Given the description of an element on the screen output the (x, y) to click on. 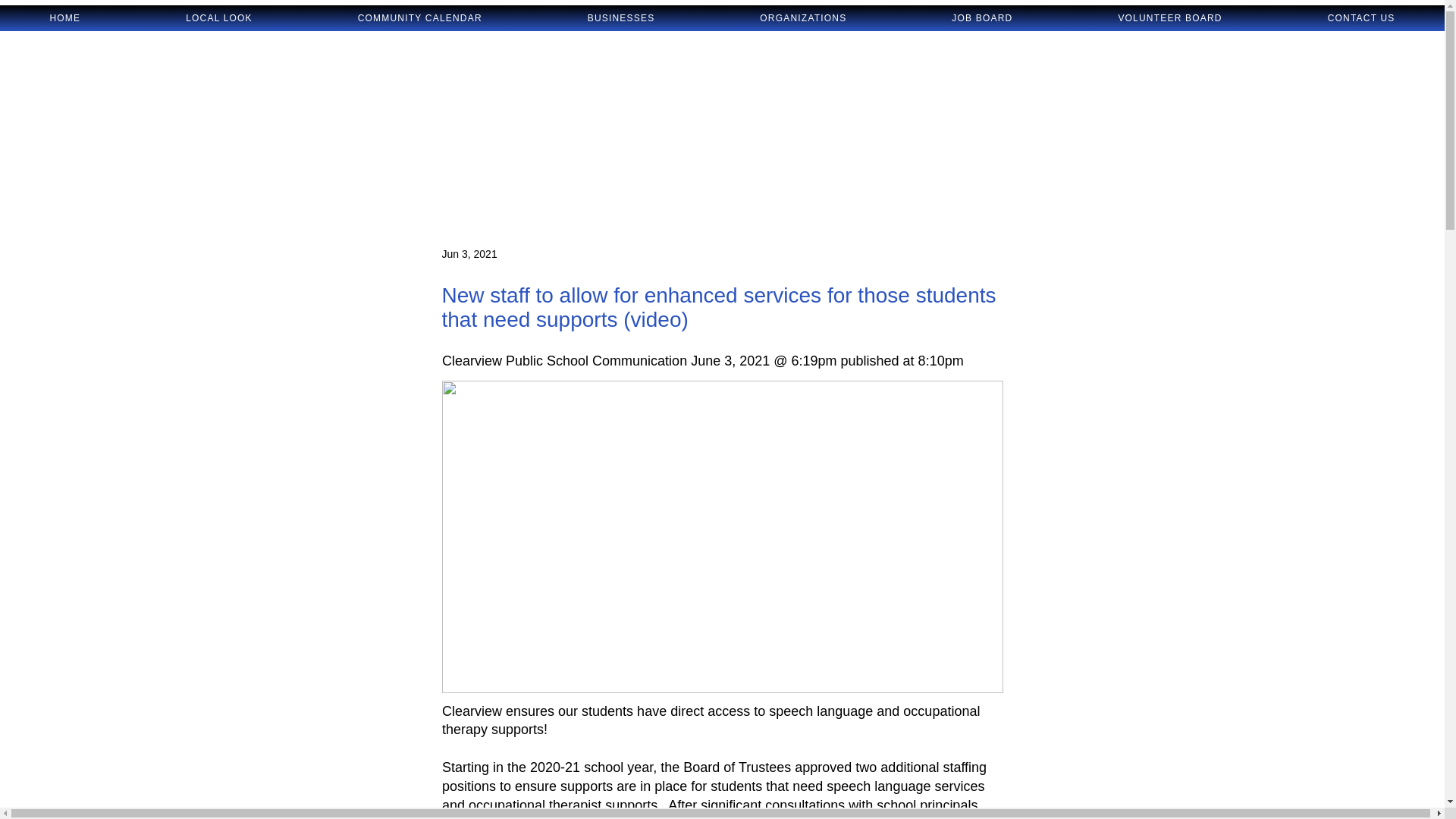
LOCAL LOOK (219, 17)
COMMUNITY CALENDAR (419, 17)
HOME (65, 17)
Jun 3, 2021 (468, 253)
